Given the description of an element on the screen output the (x, y) to click on. 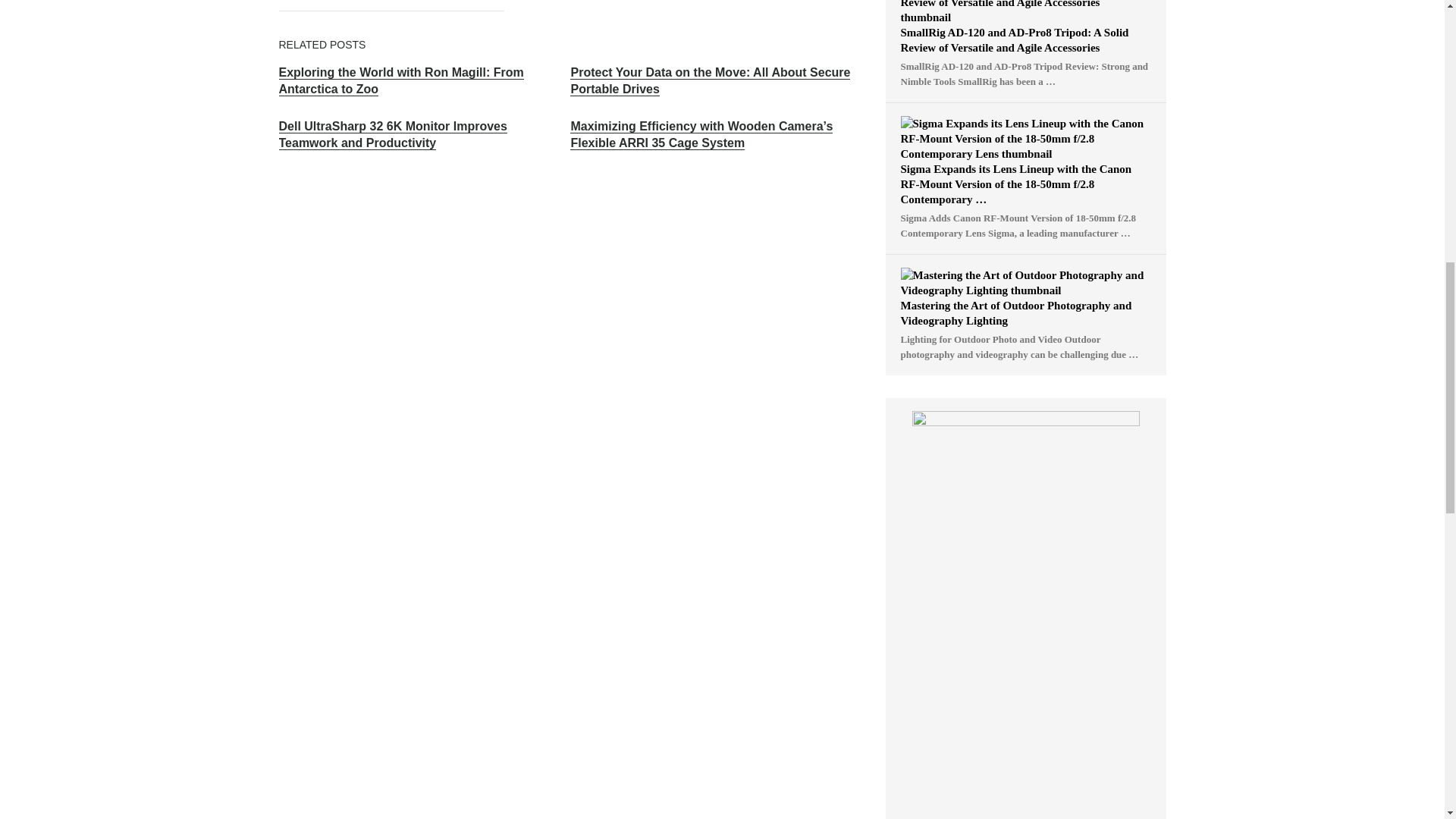
Exploring the World with Ron Magill: From Antarctica to Zoo (401, 81)
